Given the description of an element on the screen output the (x, y) to click on. 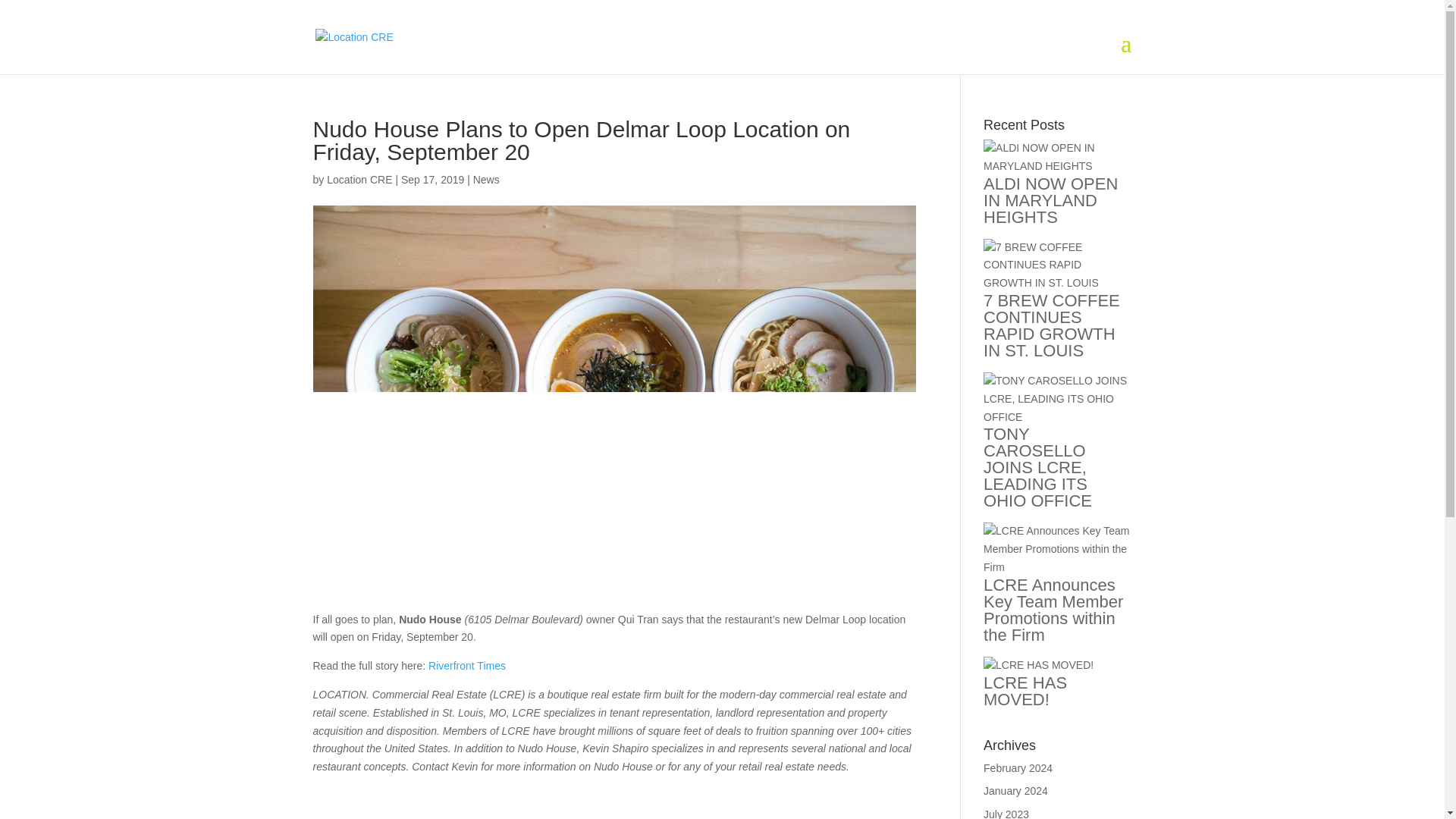
LCRE HAS MOVED! (1025, 691)
January 2024 (1016, 790)
LCRE Announces Key Team Member Promotions within the Firm (1053, 609)
TONY CAROSELLO JOINS LCRE, LEADING ITS OHIO OFFICE (1038, 467)
7 BREW COFFEE CONTINUES RAPID GROWTH IN ST. LOUIS (1051, 325)
July 2023 (1006, 813)
News (486, 179)
February 2024 (1018, 767)
Riverfront Times (466, 665)
Location CRE (358, 179)
